Given the description of an element on the screen output the (x, y) to click on. 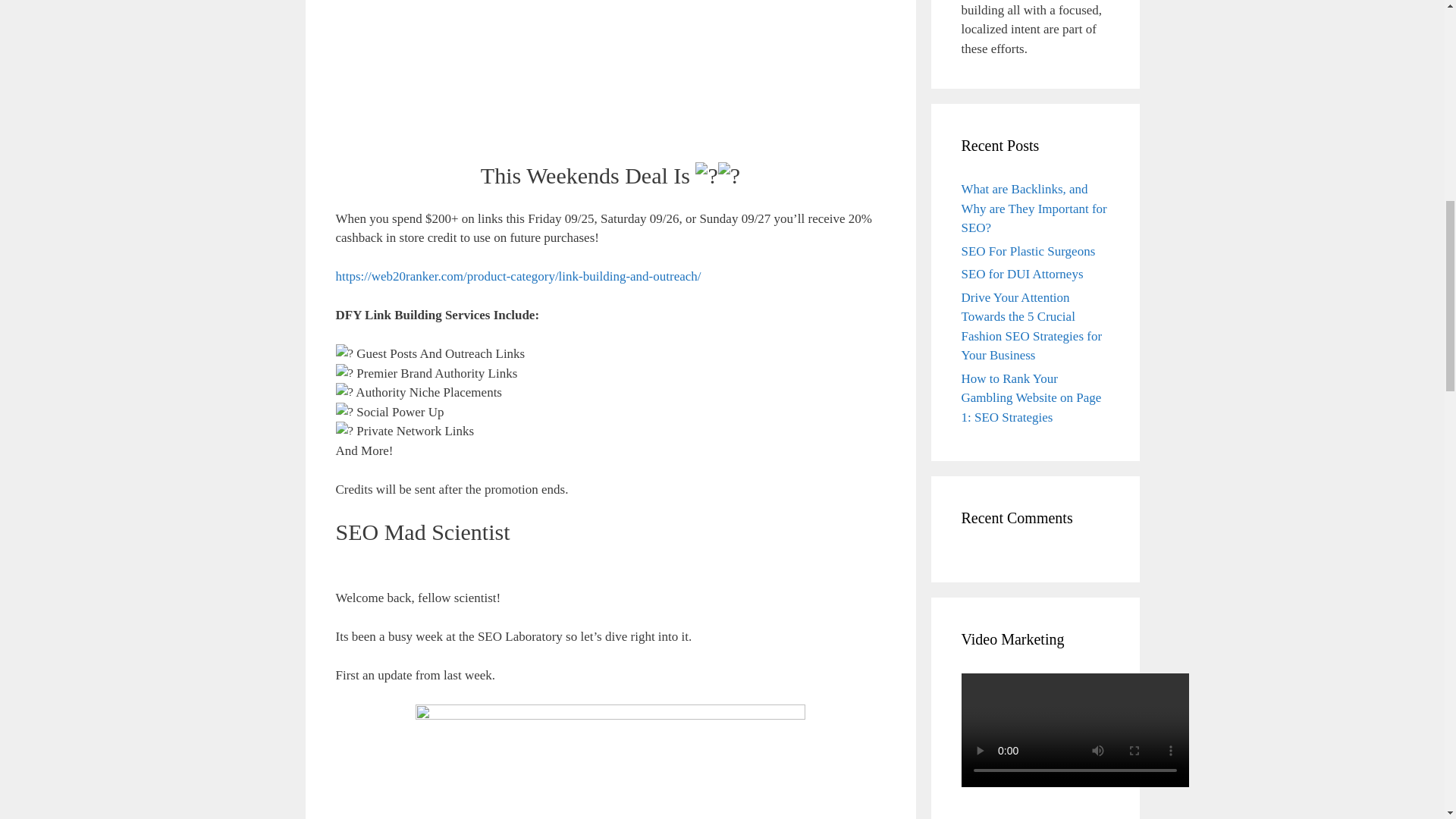
SEO for DUI Attorneys (1021, 273)
What are Backlinks, and Why are They Important for SEO? (1033, 208)
SEO For Plastic Surgeons (1028, 251)
How to Rank Your Gambling Website on Page 1: SEO Strategies (1031, 398)
